Given the description of an element on the screen output the (x, y) to click on. 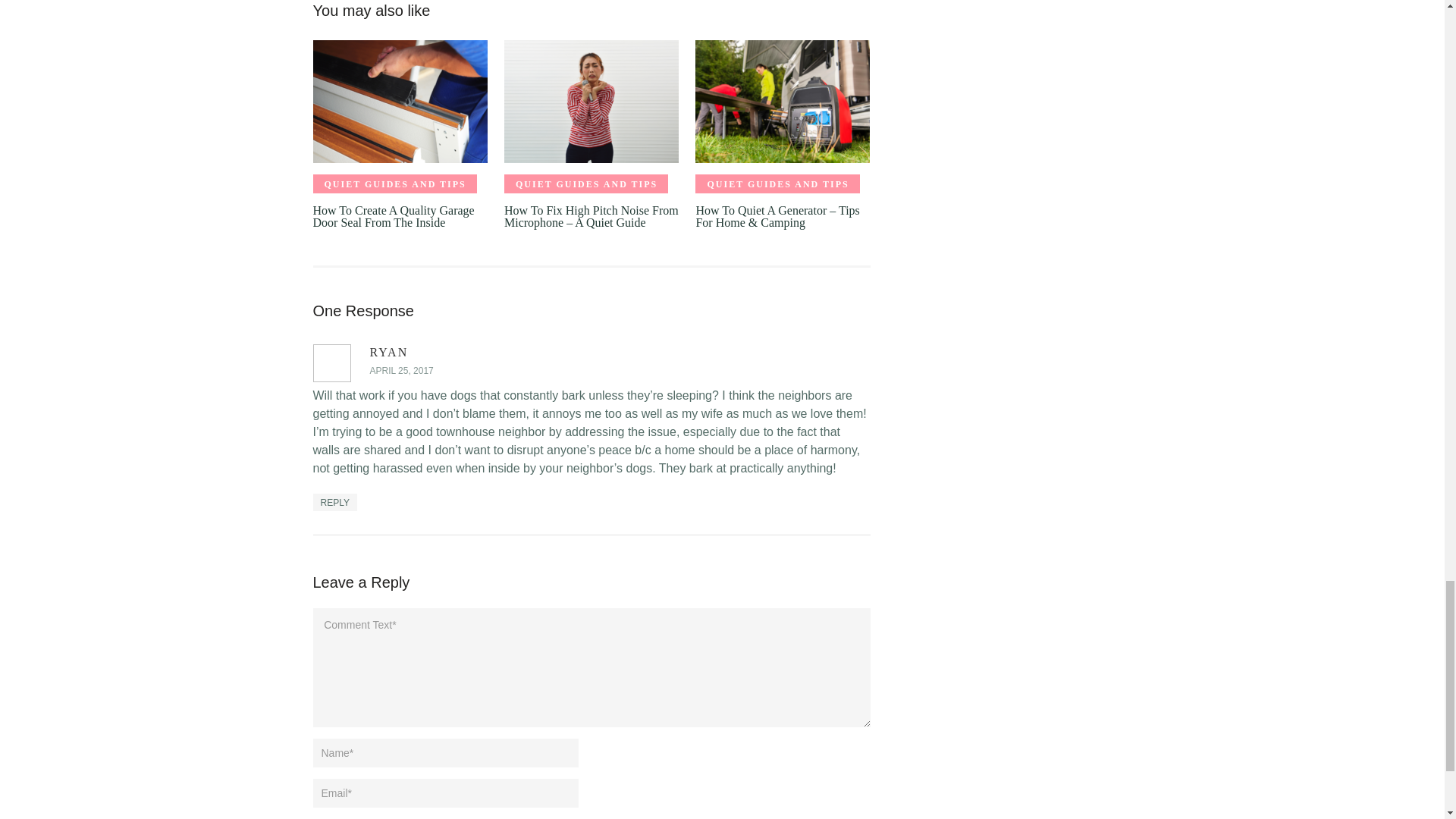
REPLY (334, 502)
QUIET GUIDES AND TIPS (777, 183)
View all posts in Quiet Guides and Tips (777, 183)
View all posts in Quiet Guides and Tips (394, 183)
QUIET GUIDES AND TIPS (585, 183)
How To Create A Quality Garage Door Seal From The Inside (393, 216)
QUIET GUIDES AND TIPS (394, 183)
View all posts in Quiet Guides and Tips (585, 183)
How To Create A Quality Garage Door Seal From The Inside (393, 216)
How To Create A Quality Garage Door Seal From The Inside (399, 101)
